Given the description of an element on the screen output the (x, y) to click on. 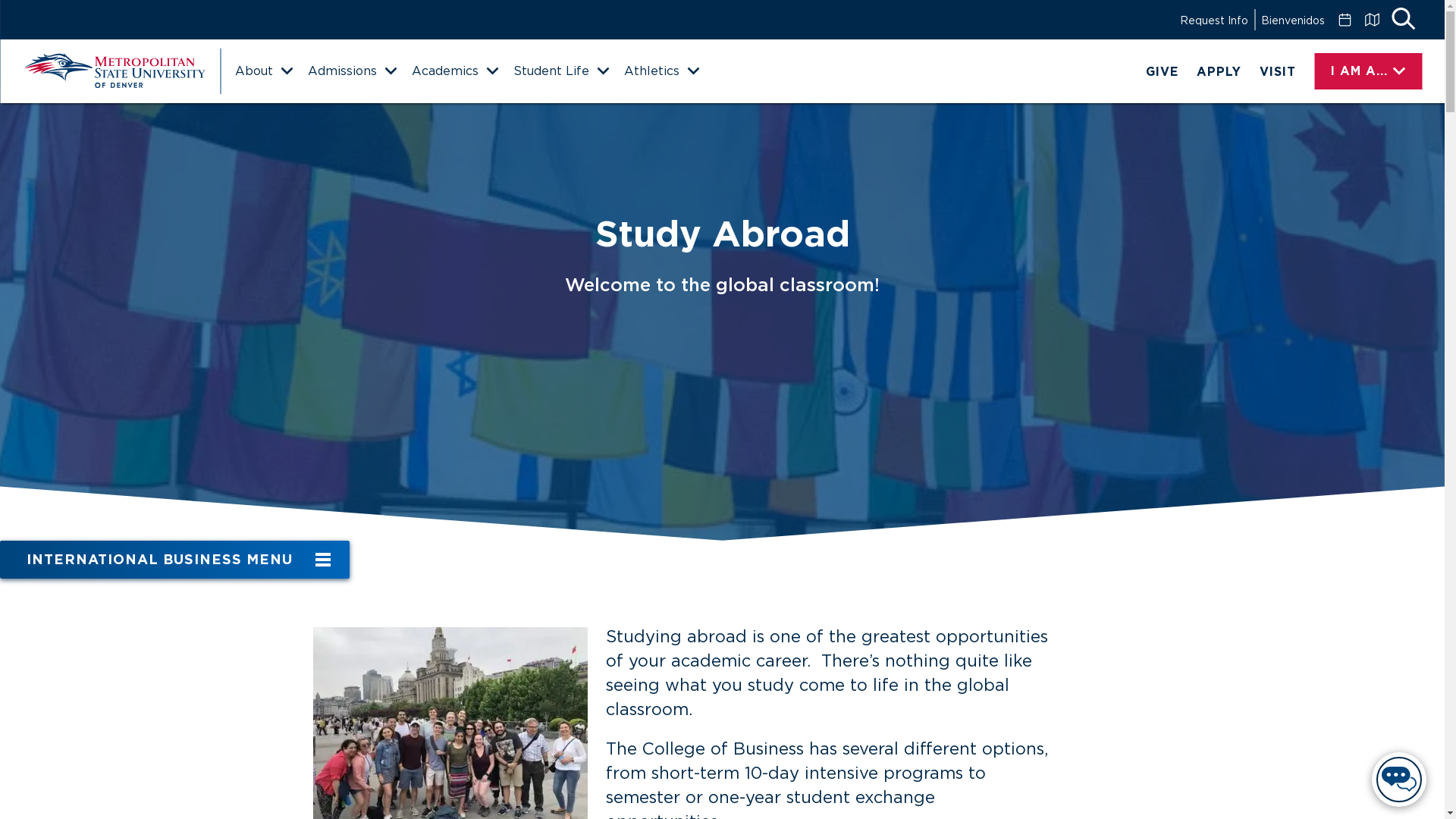
Bienvenidos (1292, 20)
Request Info (1213, 20)
Map (1371, 19)
Calendar (1344, 19)
About (263, 71)
MSU Denver (114, 70)
Search (1403, 19)
